Given the description of an element on the screen output the (x, y) to click on. 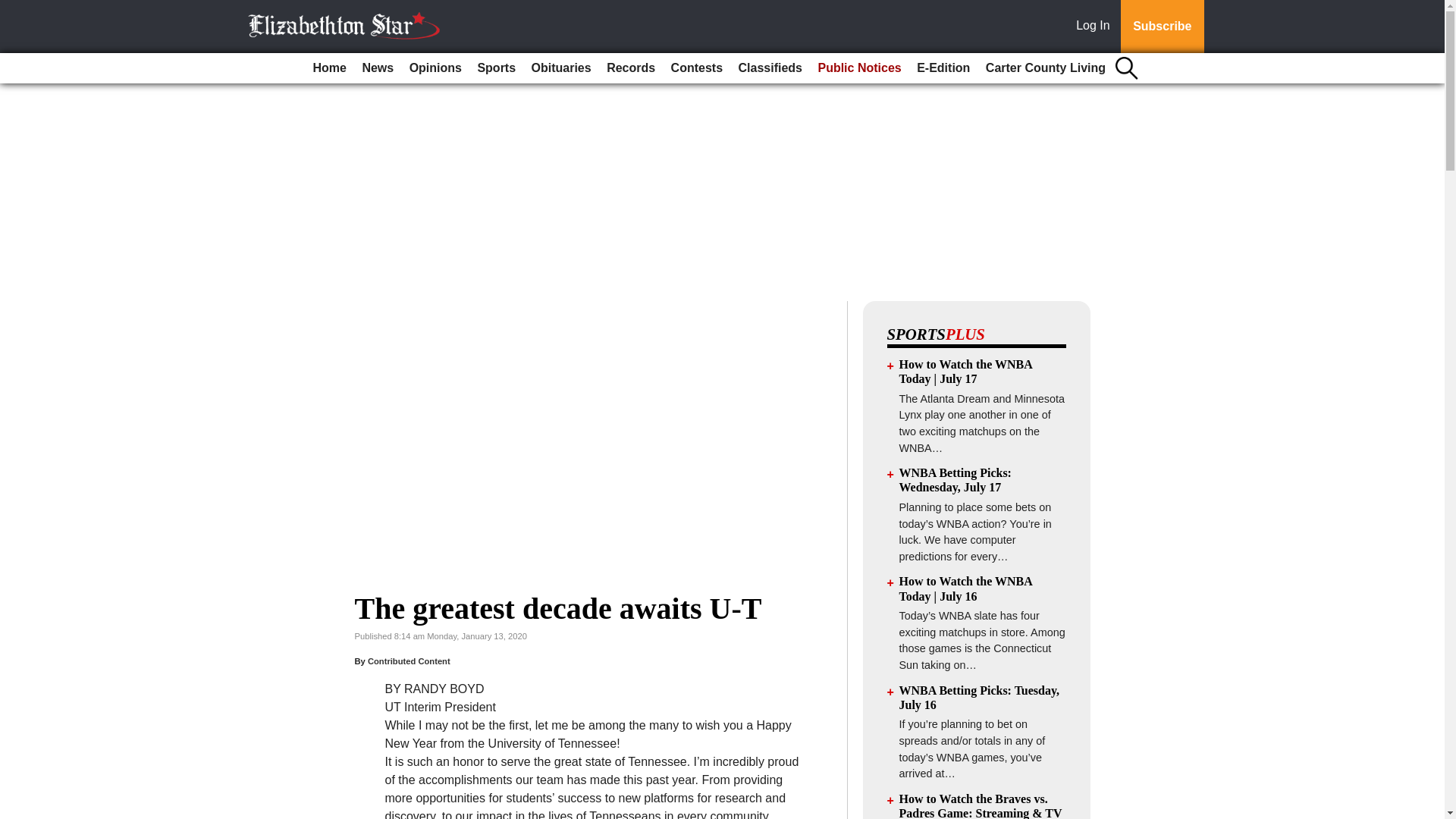
Classifieds (770, 68)
Contests (697, 68)
Carter County Living (1045, 68)
Log In (1095, 26)
Sports (495, 68)
E-Edition (943, 68)
Home (328, 68)
WNBA Betting Picks: Tuesday, July 16 (979, 697)
Records (630, 68)
Contributed Content (408, 660)
Public Notices (858, 68)
Obituaries (560, 68)
WNBA Betting Picks: Wednesday, July 17 (955, 479)
Go (13, 9)
News (376, 68)
